Given the description of an element on the screen output the (x, y) to click on. 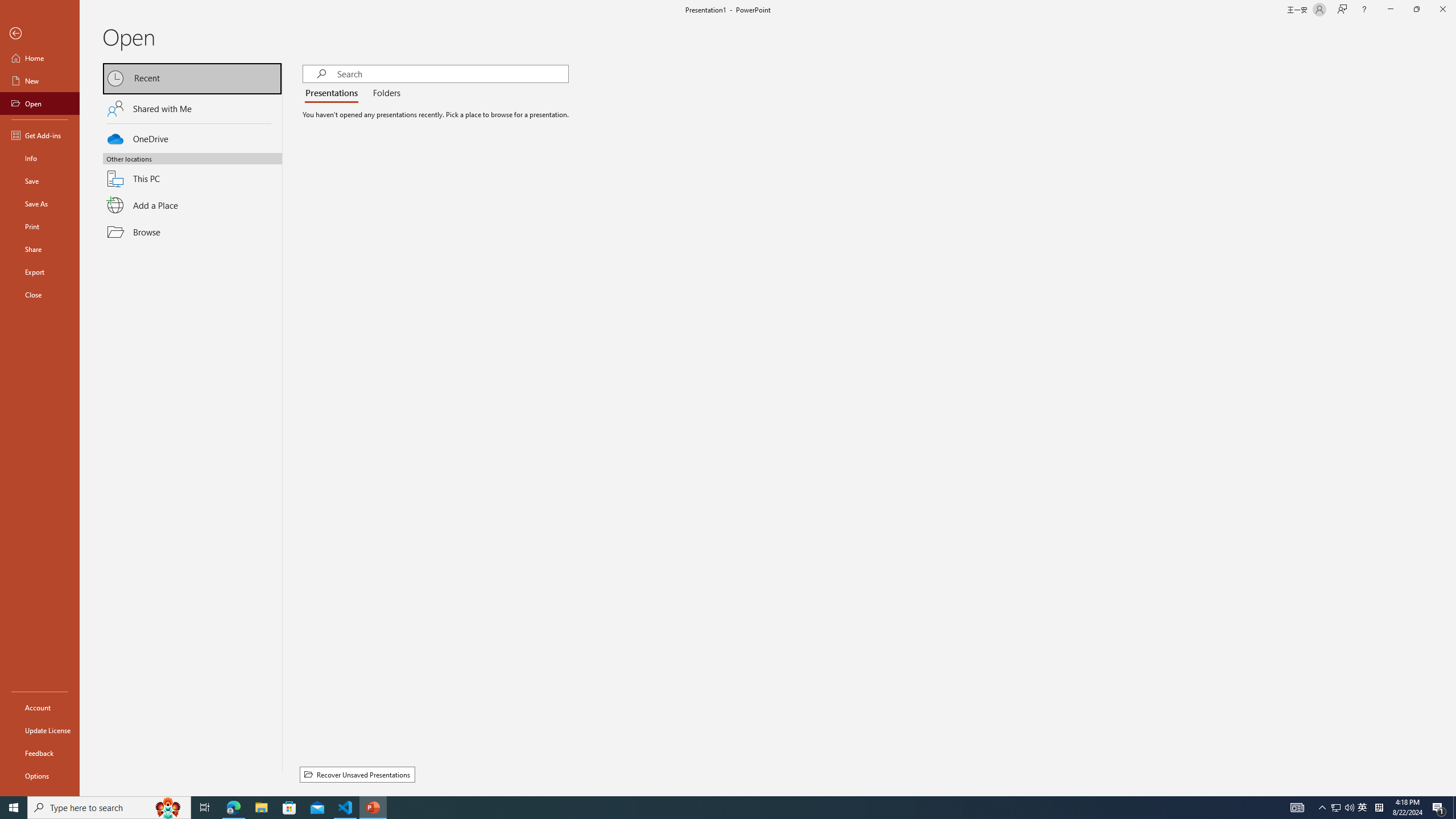
Back (40, 33)
OneDrive (192, 136)
Account (40, 707)
New (40, 80)
Get Add-ins (40, 134)
Presentations (333, 93)
